Given the description of an element on the screen output the (x, y) to click on. 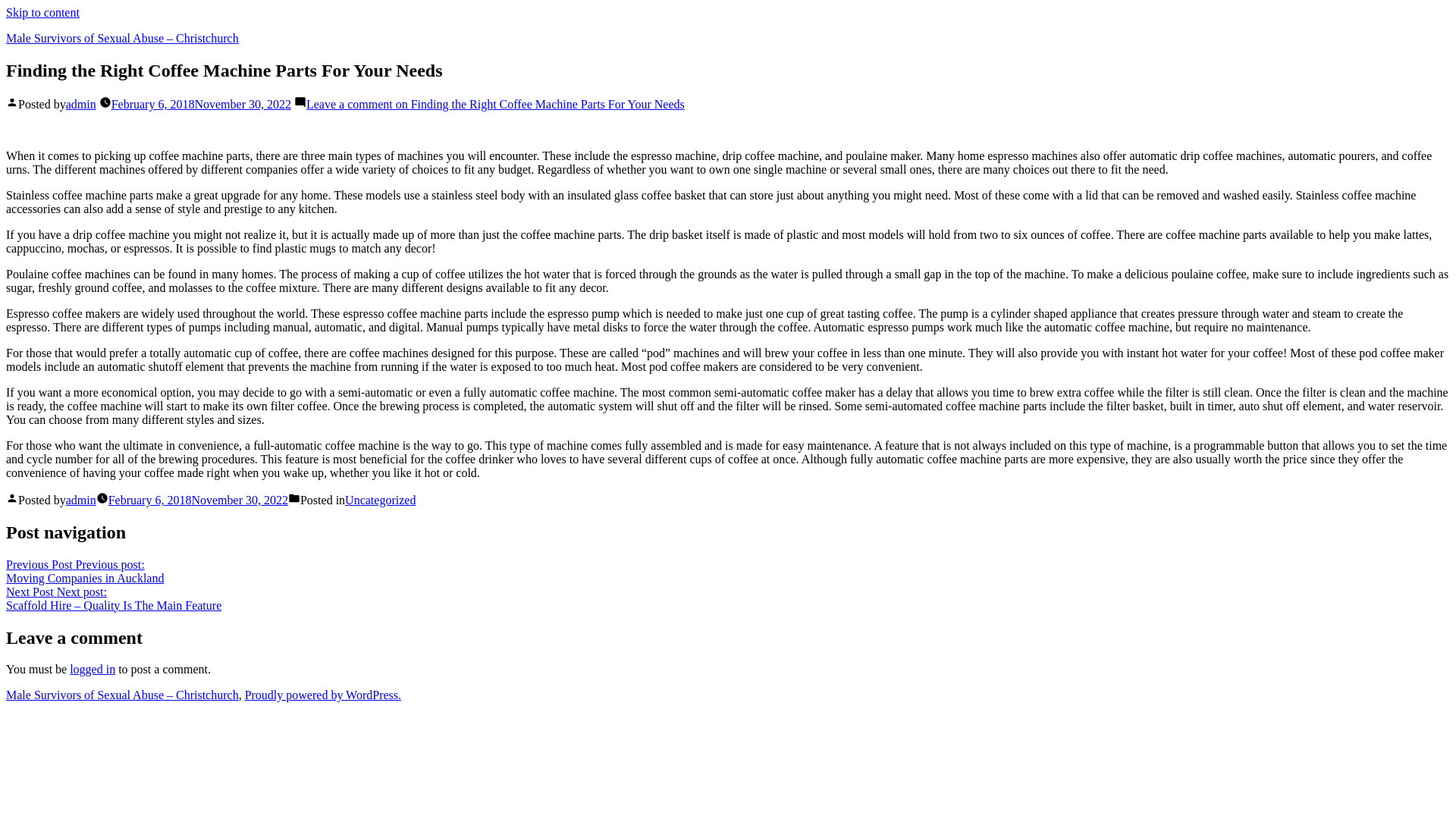
logged in (84, 570)
Skip to content (92, 668)
February 6, 2018November 30, 2022 (42, 11)
February 6, 2018November 30, 2022 (197, 499)
Uncategorized (201, 103)
admin (379, 499)
admin (80, 103)
